Given the description of an element on the screen output the (x, y) to click on. 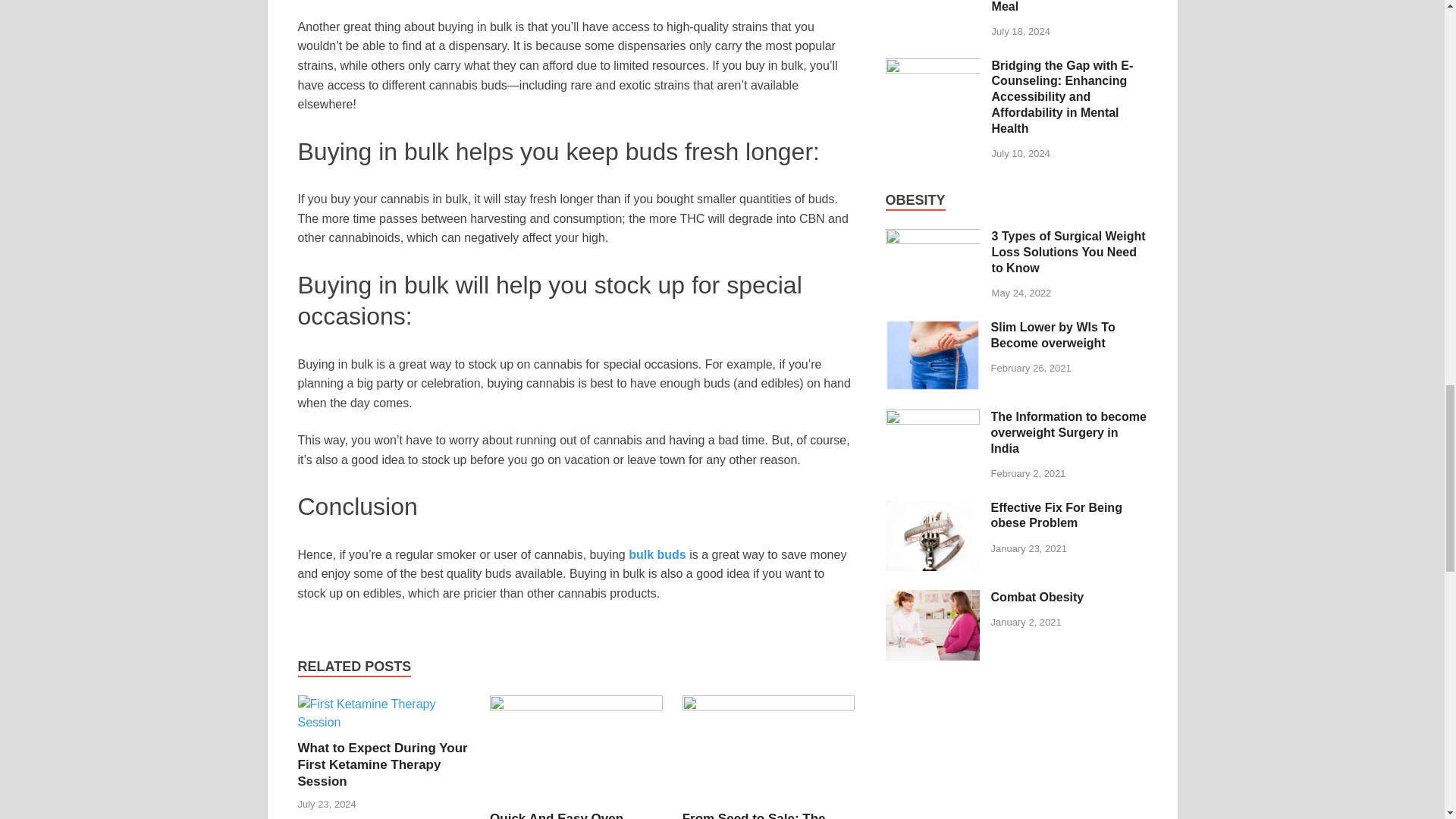
What to Expect During Your First Ketamine Therapy Session (382, 764)
What to Expect During Your First Ketamine Therapy Session (382, 764)
Quick And Easy Oven-Baked Potatoes For Any Meal (564, 815)
Quick And Easy Oven-Baked Potatoes For Any Meal (564, 815)
Quick And Easy Oven-Baked Potatoes For Any Meal (575, 706)
bulk buds (656, 554)
What to Expect During Your First Ketamine Therapy Session (383, 721)
